Given the description of an element on the screen output the (x, y) to click on. 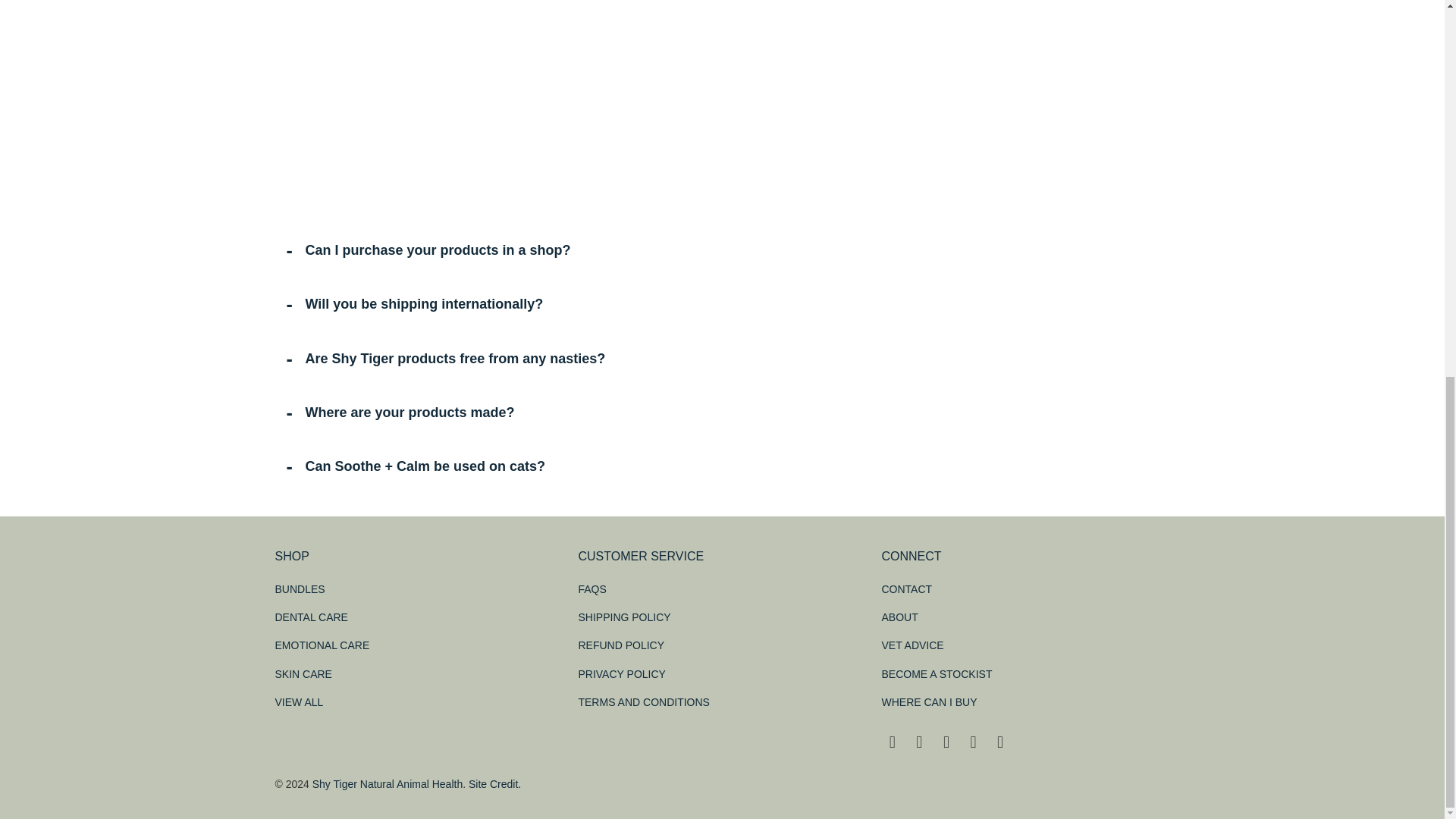
Shy Tiger Natural Animal Health on LinkedIn (973, 742)
Will you be shipping internationally? (722, 304)
Can I purchase your products in a shop? (722, 250)
Shy Tiger Natural Animal Health on YouTube (919, 742)
Shy Tiger Natural Animal Health on Facebook (892, 742)
Email Shy Tiger Natural Animal Health (1000, 742)
Are Shy Tiger products free from any nasties? (722, 358)
Shy Tiger Natural Animal Health on Instagram (947, 742)
